Given the description of an element on the screen output the (x, y) to click on. 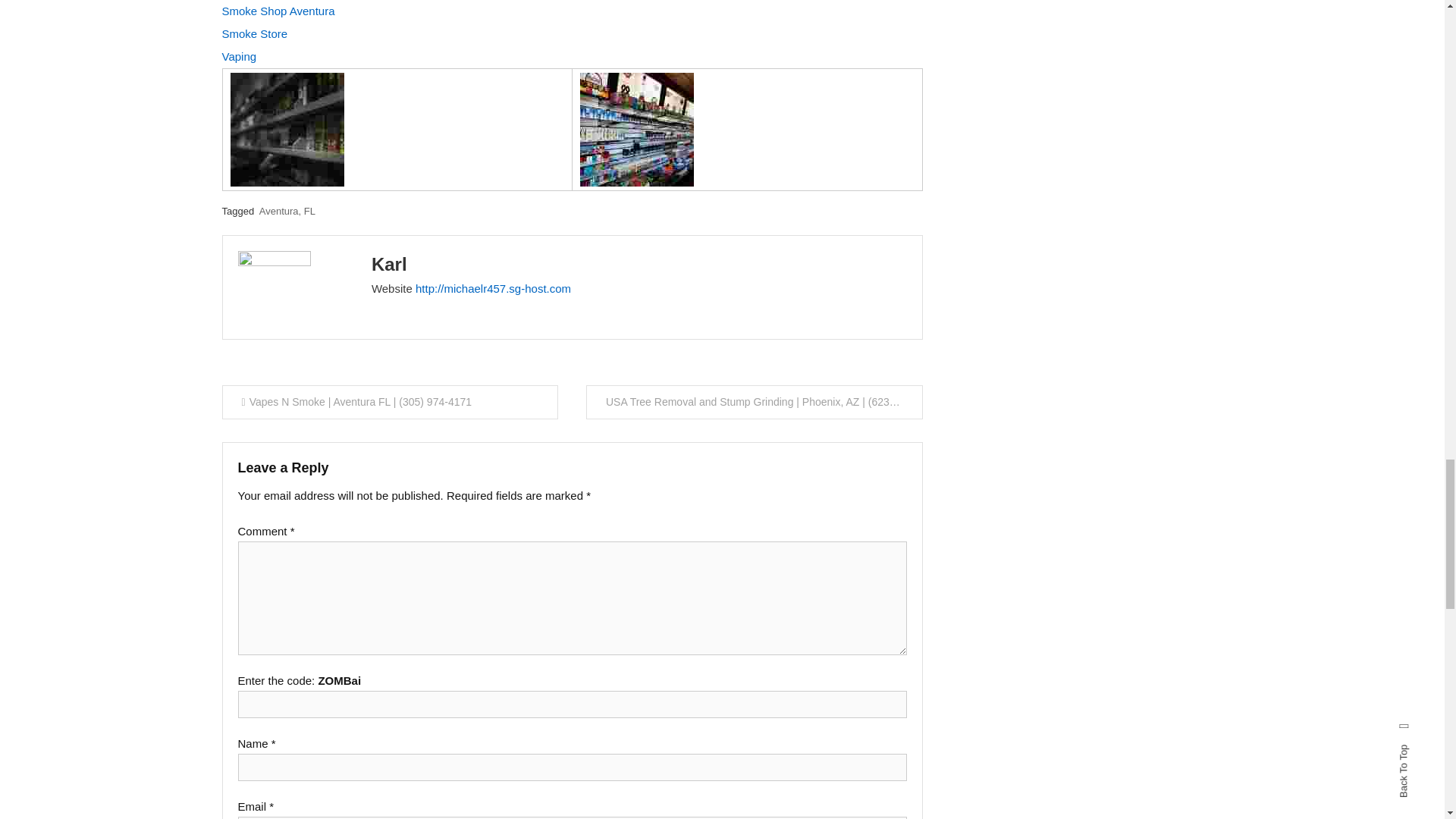
Posts by Karl (389, 263)
